Given the description of an element on the screen output the (x, y) to click on. 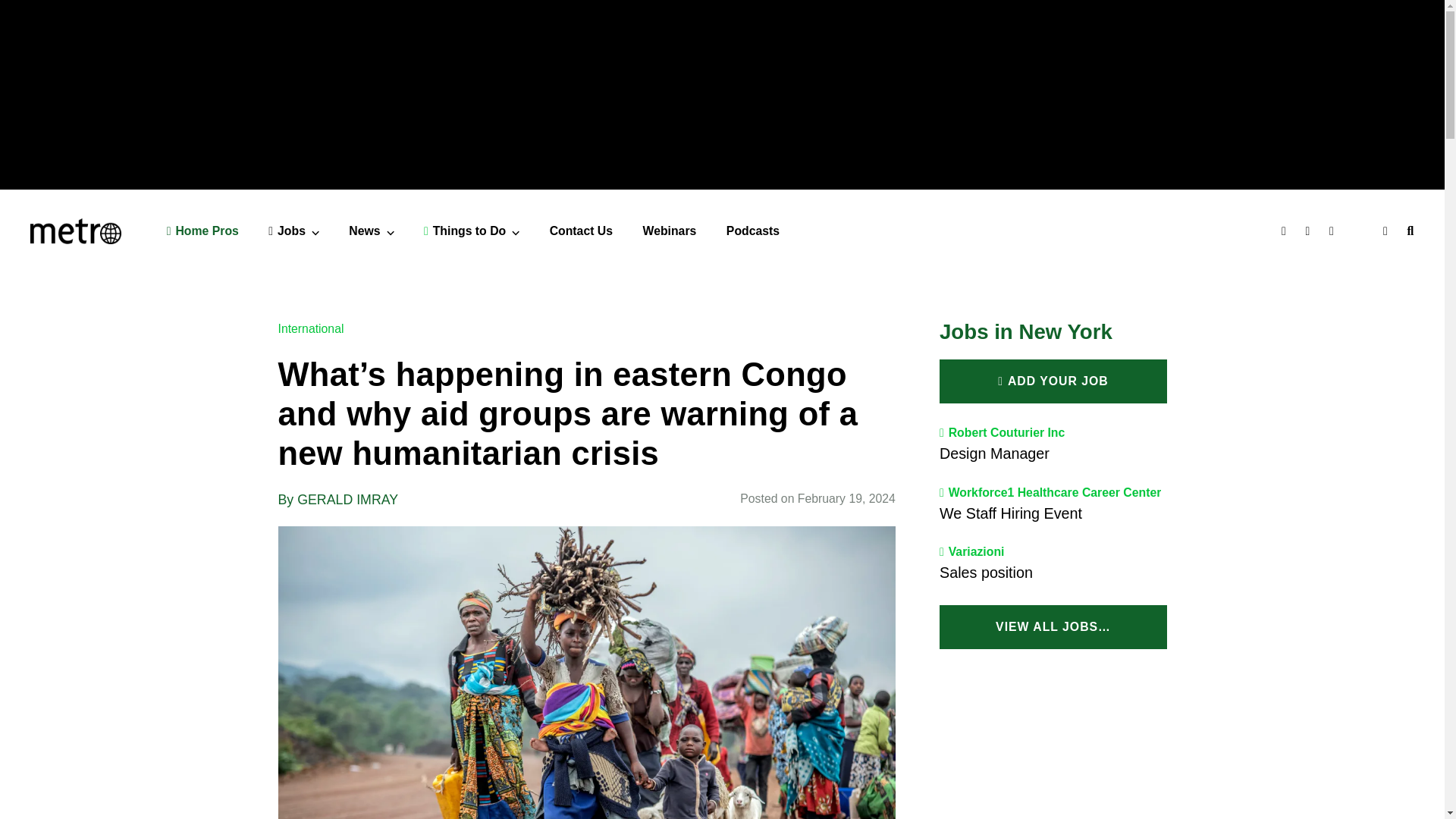
Podcasts (752, 230)
Home Pros (202, 230)
News (371, 230)
Things to Do (471, 230)
Jobs (292, 230)
Contact Us (581, 230)
Webinars (670, 230)
